Given the description of an element on the screen output the (x, y) to click on. 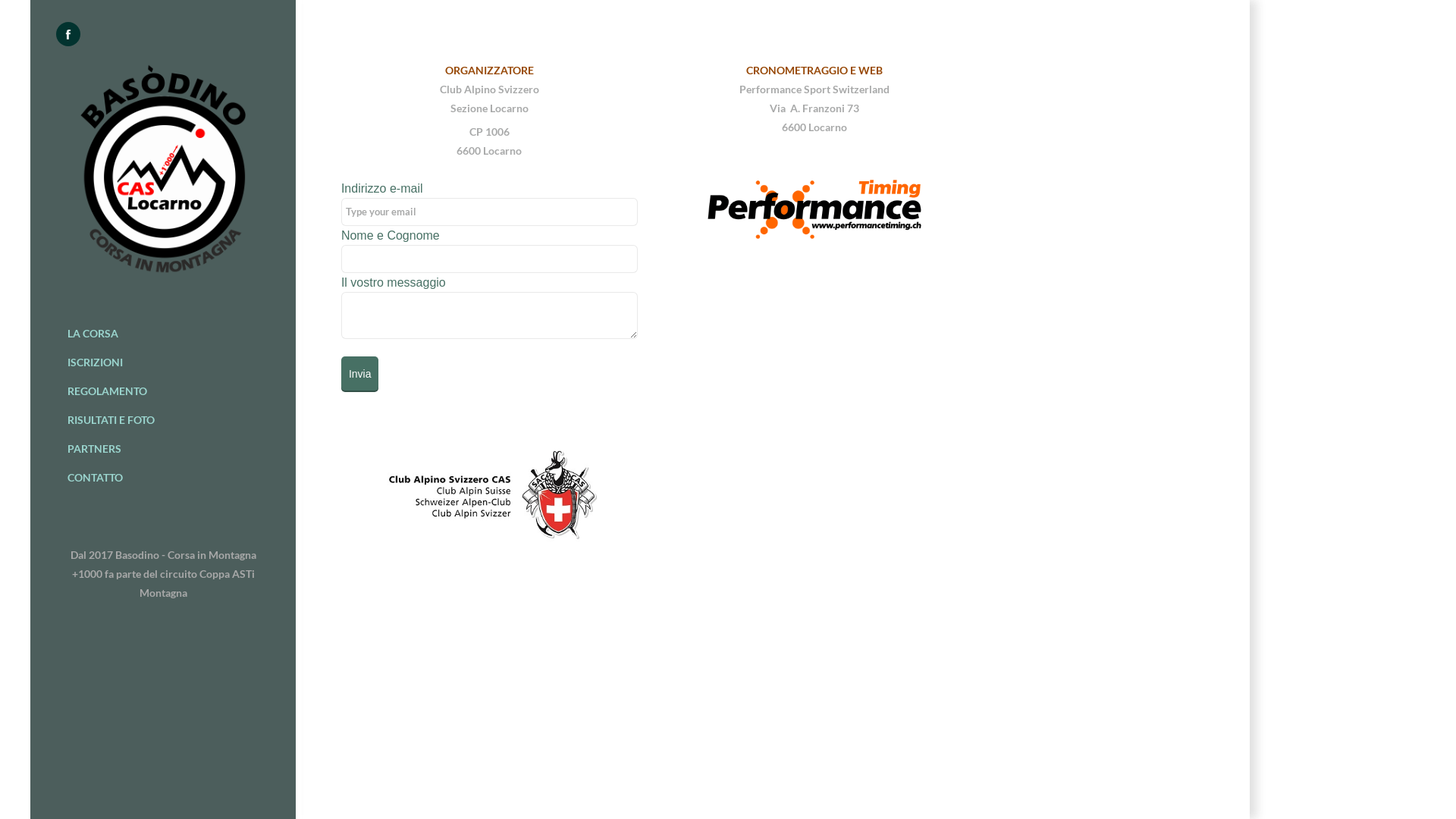
PARTNERS Element type: text (163, 448)
RISULTATI E FOTO Element type: text (163, 419)
REGOLAMENTO Element type: text (163, 390)
Facebook Element type: text (68, 33)
Nome e Cognome Element type: hover (489, 258)
Invia Element type: text (360, 373)
LA CORSA Element type: text (163, 333)
CONTATTO Element type: text (163, 477)
ISCRIZIONI Element type: text (163, 362)
